Given the description of an element on the screen output the (x, y) to click on. 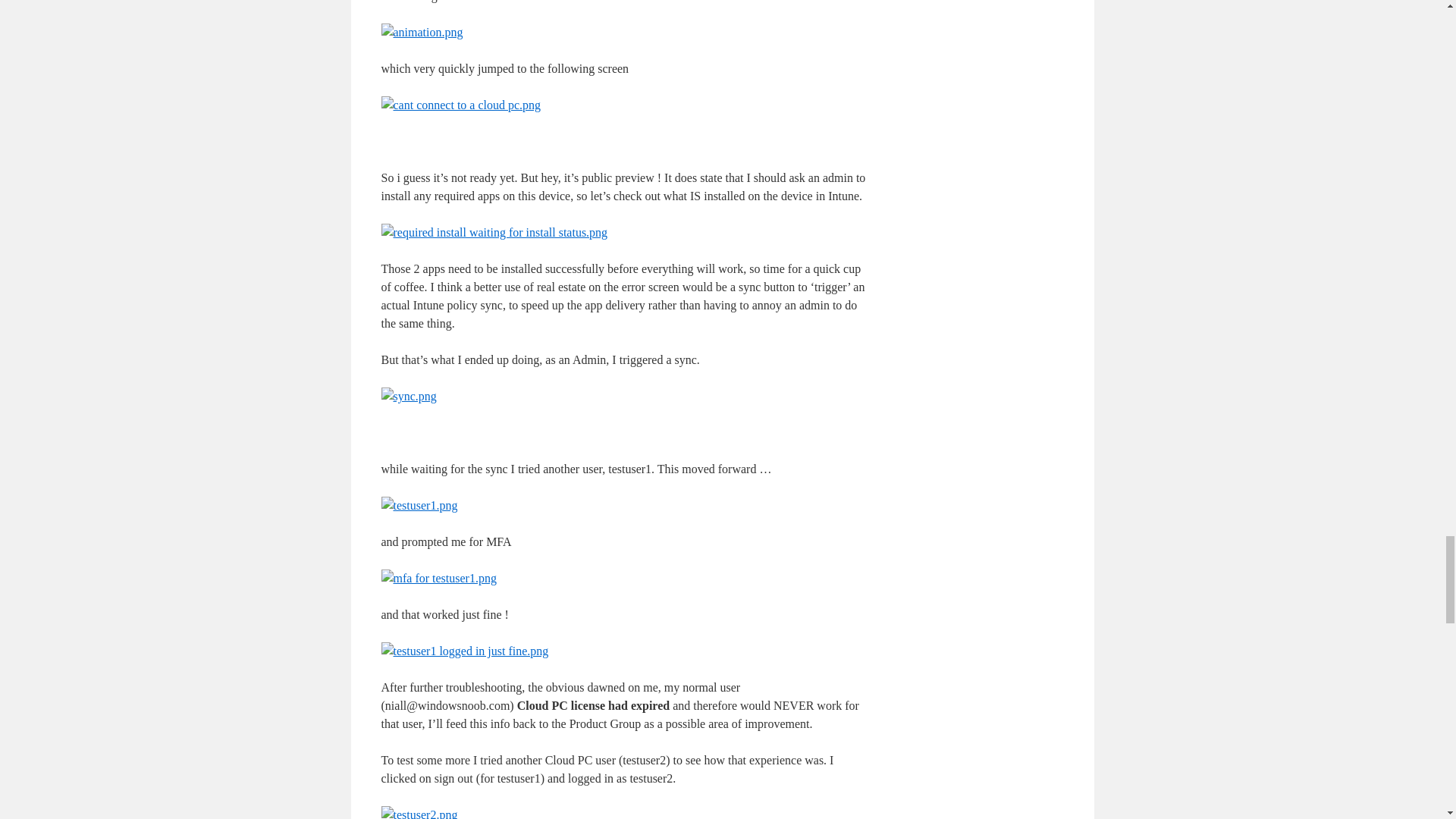
Enlarge image (407, 395)
